Given the description of an element on the screen output the (x, y) to click on. 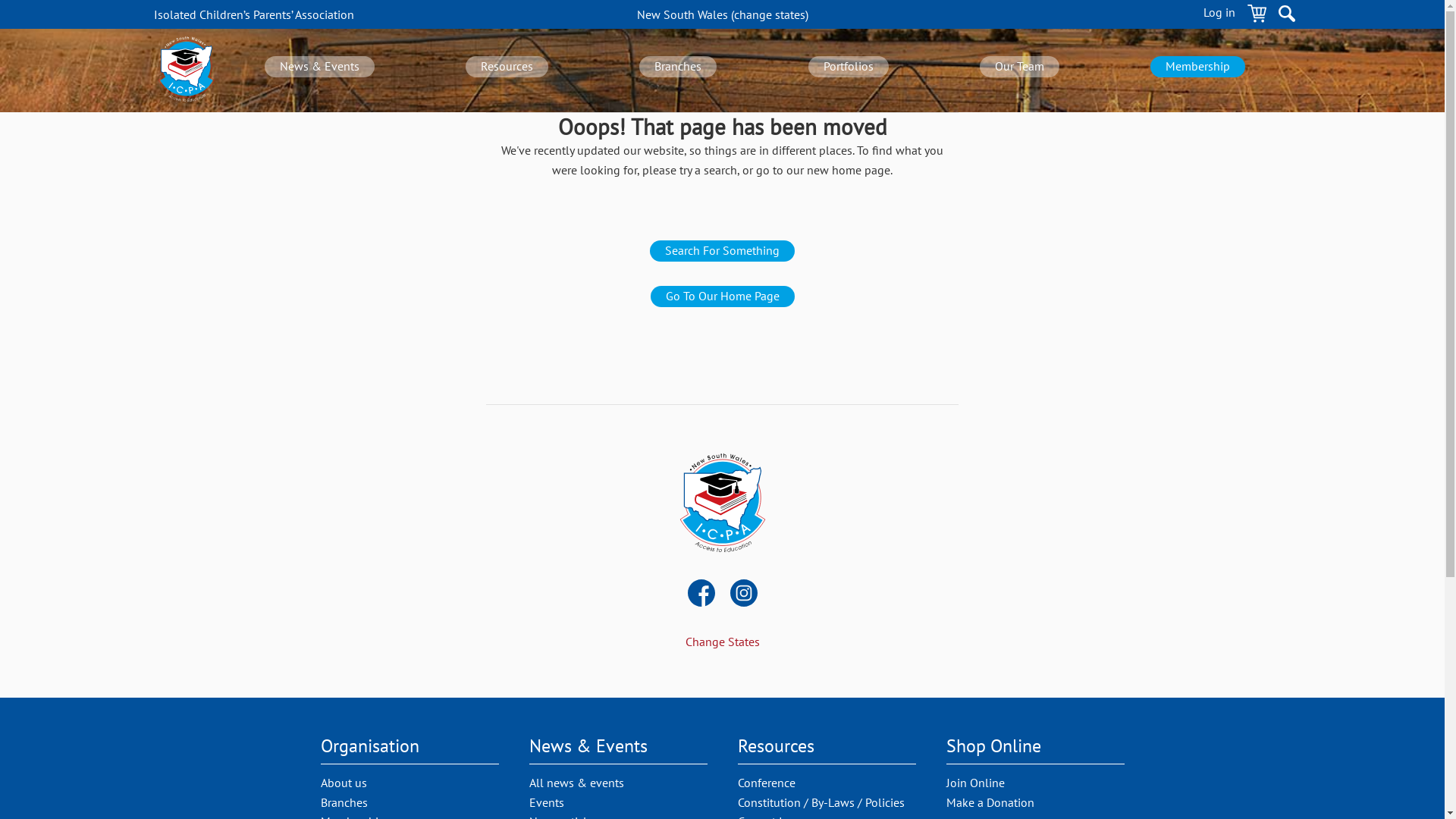
New South Wales (change states) Element type: text (722, 13)
Search For Something Element type: text (721, 250)
About us Element type: text (343, 782)
View cart Element type: hover (1256, 15)
Membership Element type: text (1197, 66)
Branches Element type: text (677, 66)
Our Team Element type: text (1019, 66)
Go To Our Home Page Element type: text (722, 296)
Branches Element type: text (343, 801)
Follow us on Facebook Element type: hover (700, 594)
Conference Element type: text (765, 782)
Constitution / By-Laws / Policies Element type: text (820, 801)
Portfolios Element type: text (848, 66)
Change States Element type: text (722, 641)
Make a Donation Element type: text (990, 801)
Join Online Element type: text (975, 782)
ICPA New South Wales Element type: hover (185, 70)
Events Element type: text (546, 801)
ICPA New South Wales Element type: hover (722, 504)
News & Events Element type: text (319, 66)
Search Element type: hover (1286, 15)
Skip to main content Element type: text (0, 0)
Follow us on Instagram Element type: hover (742, 594)
Resources Element type: text (506, 66)
Log in Element type: text (1219, 15)
All news & events Element type: text (576, 782)
